Given the description of an element on the screen output the (x, y) to click on. 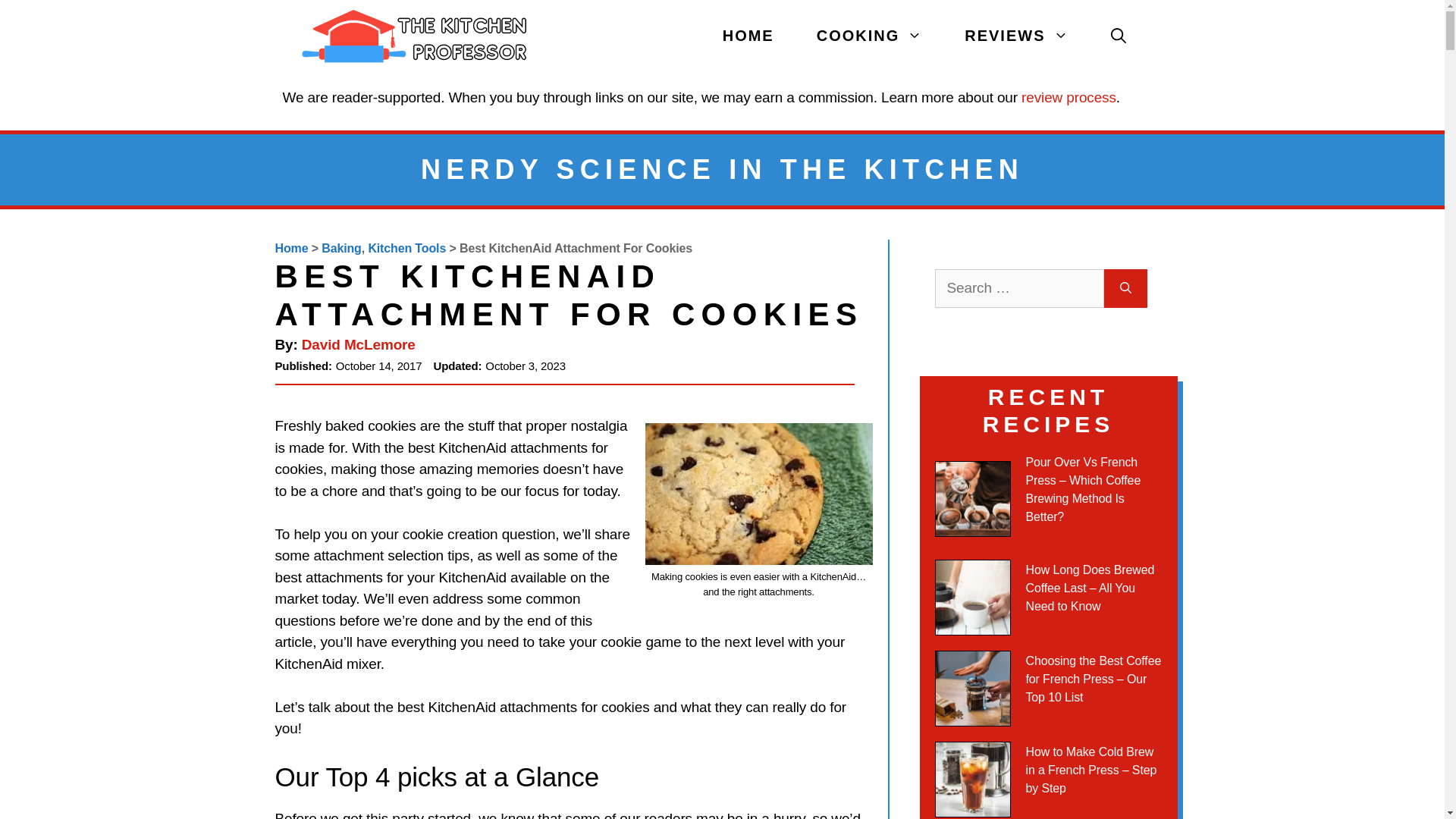
REVIEWS (1016, 36)
HOME (747, 36)
COOKING (868, 36)
